Given the description of an element on the screen output the (x, y) to click on. 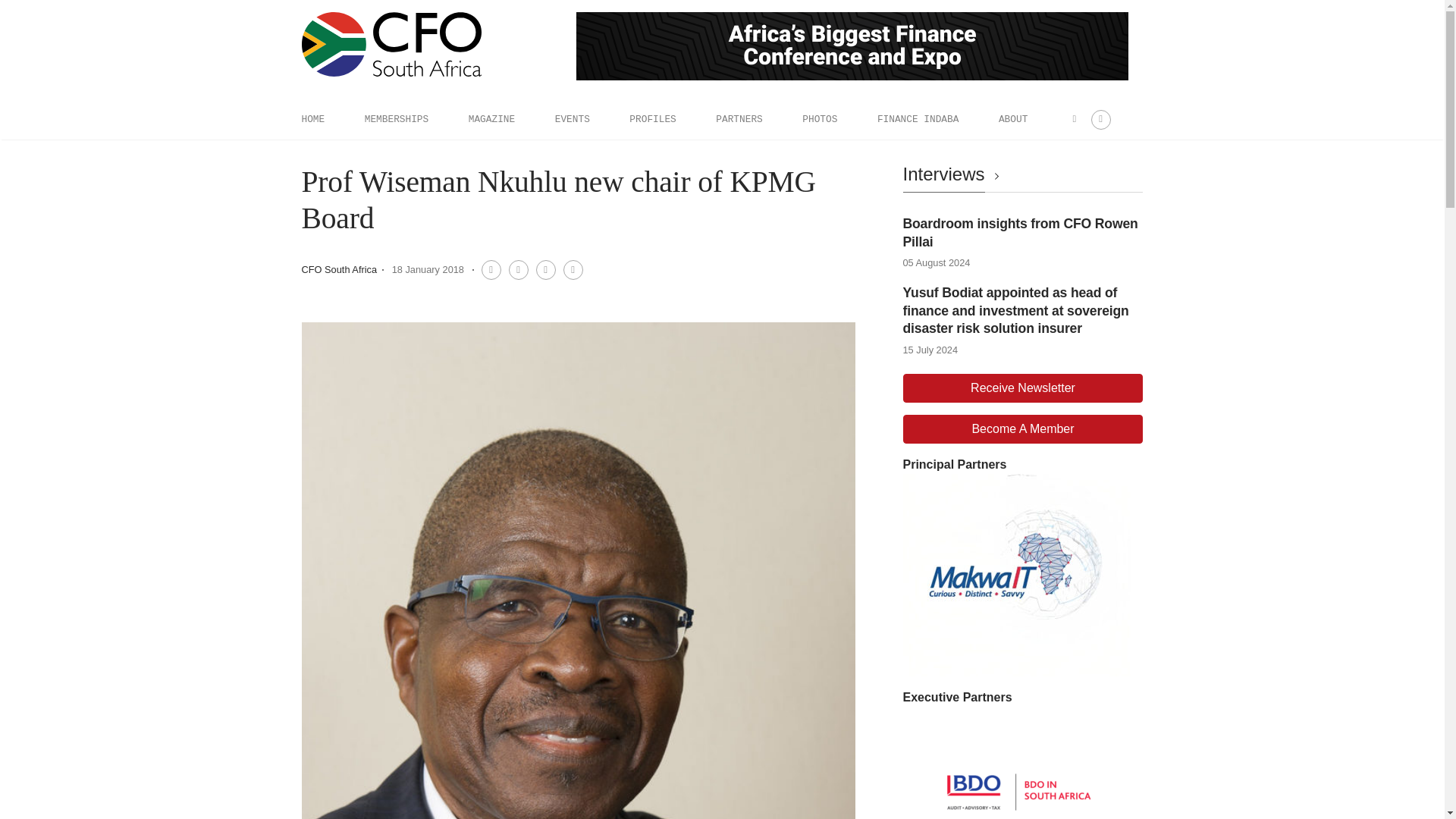
PROFILES (651, 119)
PHOTOS (819, 119)
FINANCE INDABA (918, 119)
EVENTS (571, 119)
MAGAZINE (491, 119)
Interviews (953, 173)
PARTNERS (738, 119)
ABOUT (1012, 119)
Receive Newsletter (1022, 387)
MEMBERSHIPS (396, 119)
